Given the description of an element on the screen output the (x, y) to click on. 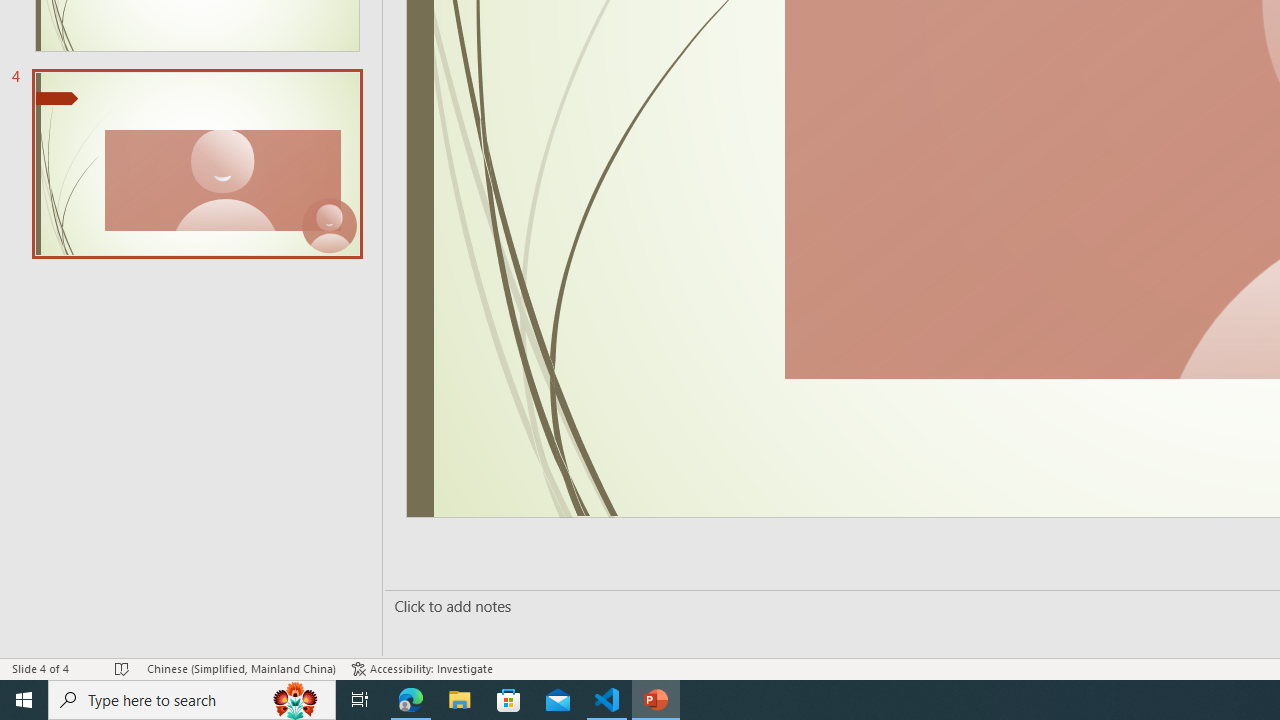
Accessibility Checker Accessibility: Investigate (422, 668)
Slide (196, 163)
Spell Check No Errors (123, 668)
